Given the description of an element on the screen output the (x, y) to click on. 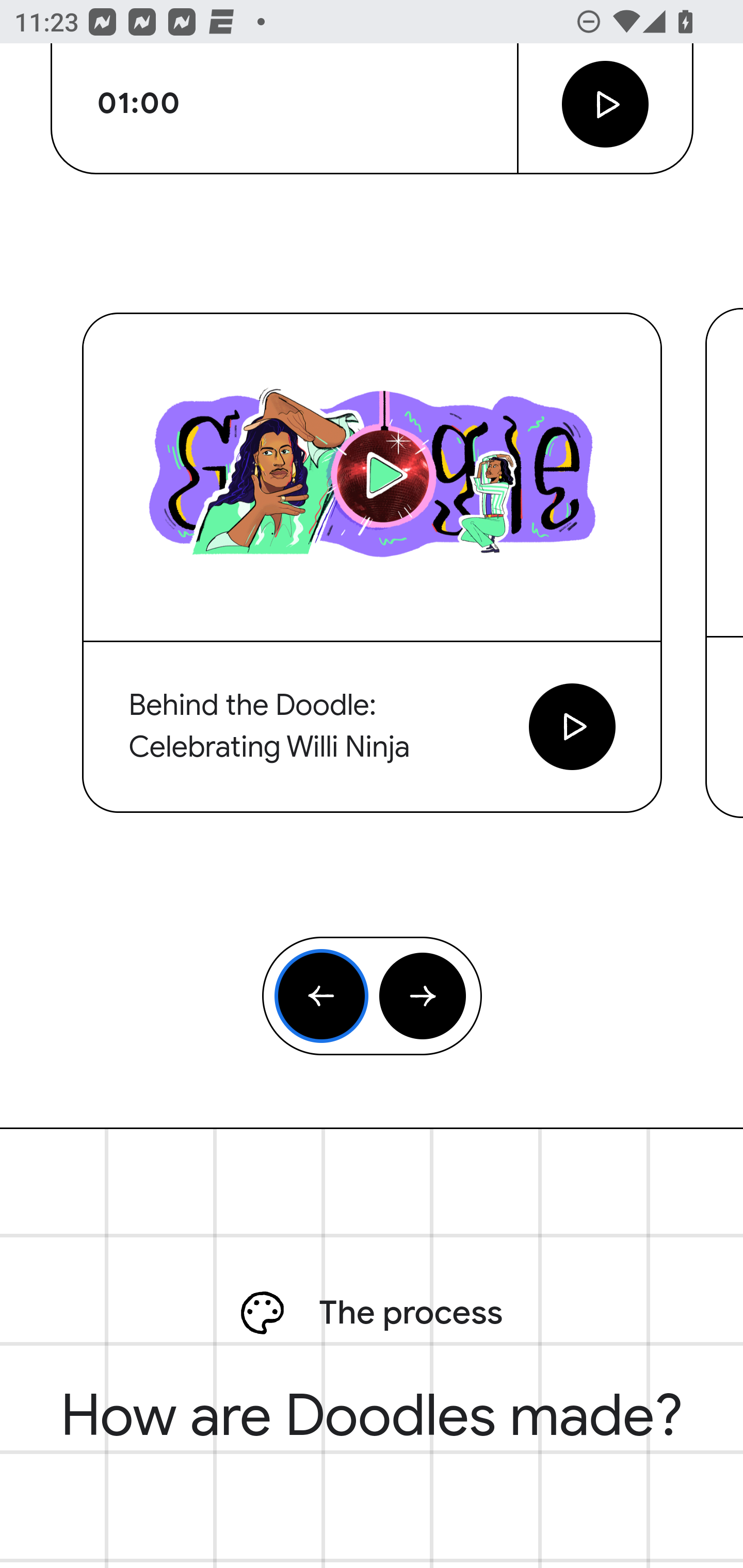
Previous slide (321, 996)
Next slide (421, 996)
